Given the description of an element on the screen output the (x, y) to click on. 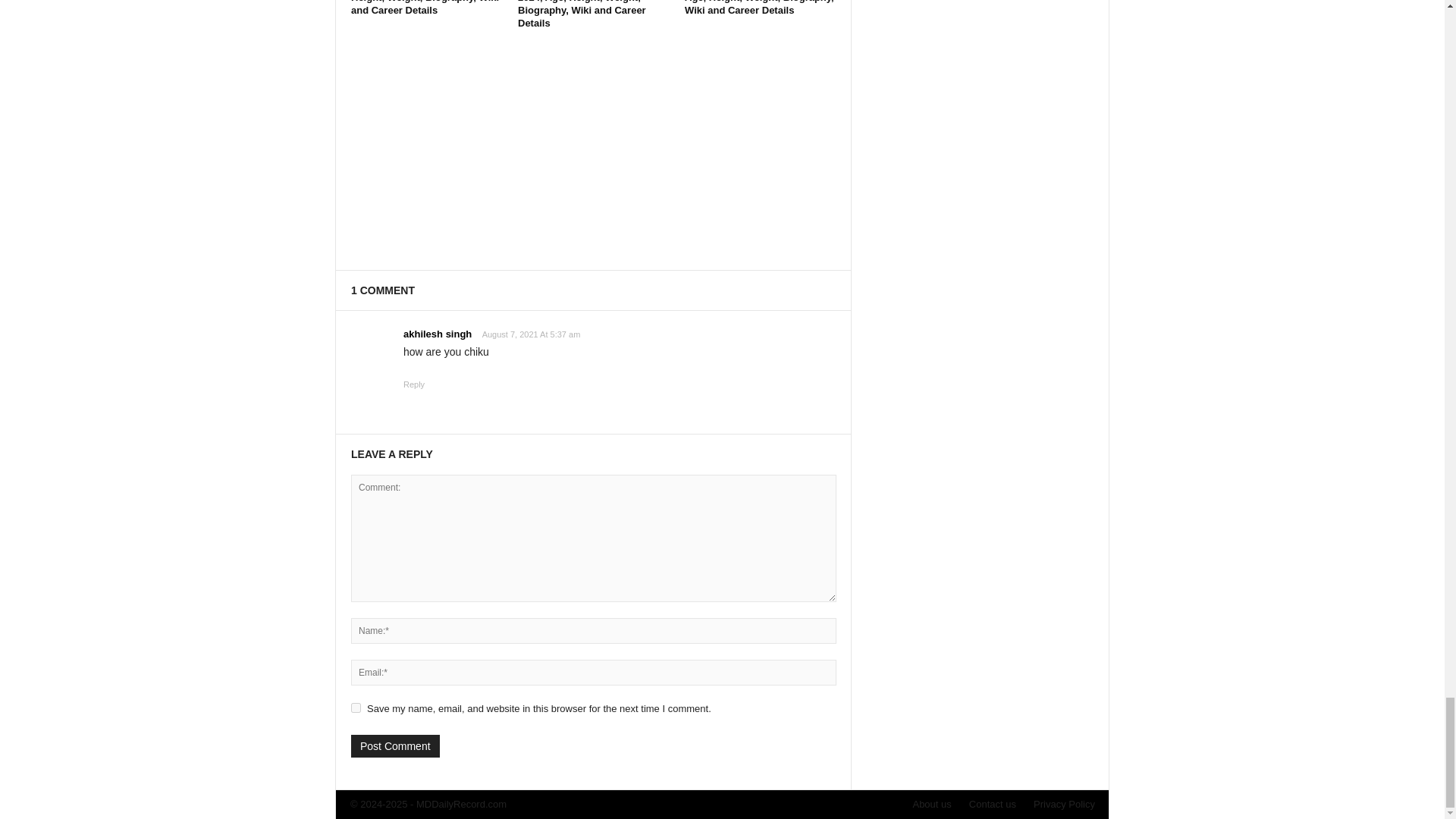
Post Comment (394, 745)
yes (355, 707)
